Given the description of an element on the screen output the (x, y) to click on. 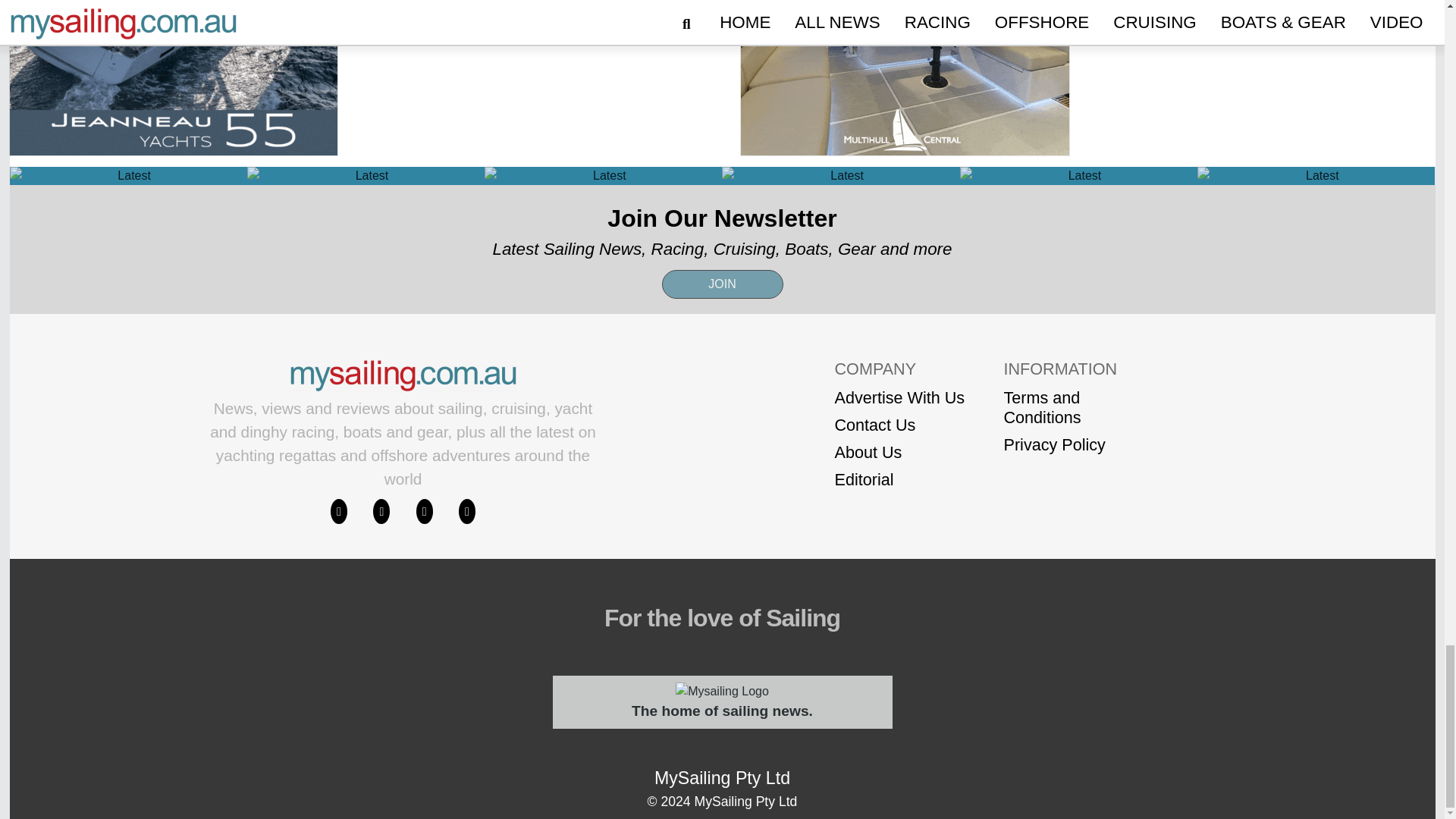
Editorial (899, 479)
Advertise With Us (899, 397)
Contact Us (899, 424)
About Us (899, 452)
